Given the description of an element on the screen output the (x, y) to click on. 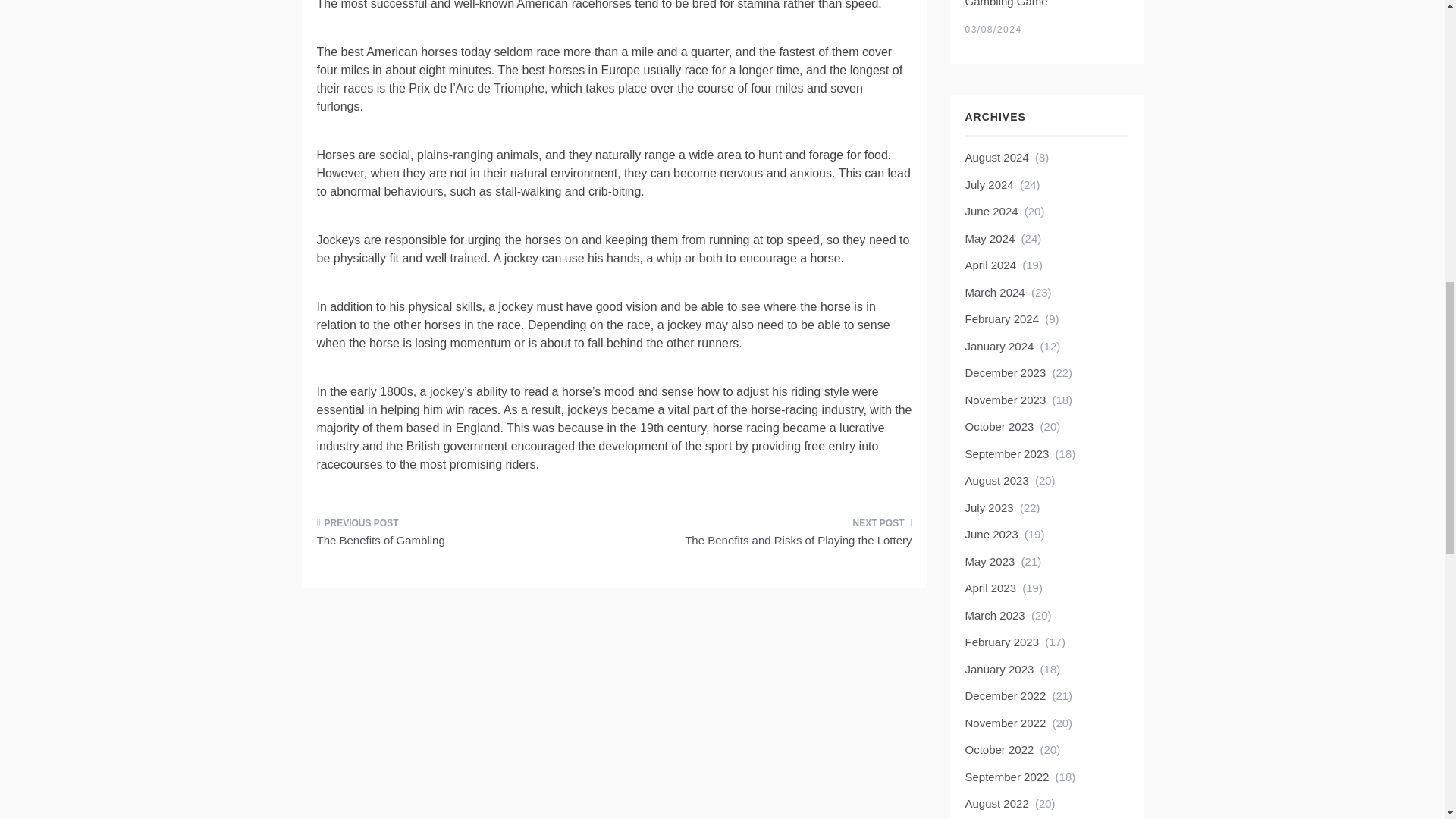
June 2024 (990, 210)
October 2023 (998, 426)
January 2024 (998, 345)
December 2023 (1004, 372)
November 2023 (1004, 399)
February 2024 (1001, 318)
September 2023 (1005, 453)
The Benefits and Risks of Playing the Lottery (769, 536)
August 2023 (995, 480)
July 2024 (988, 184)
